Given the description of an element on the screen output the (x, y) to click on. 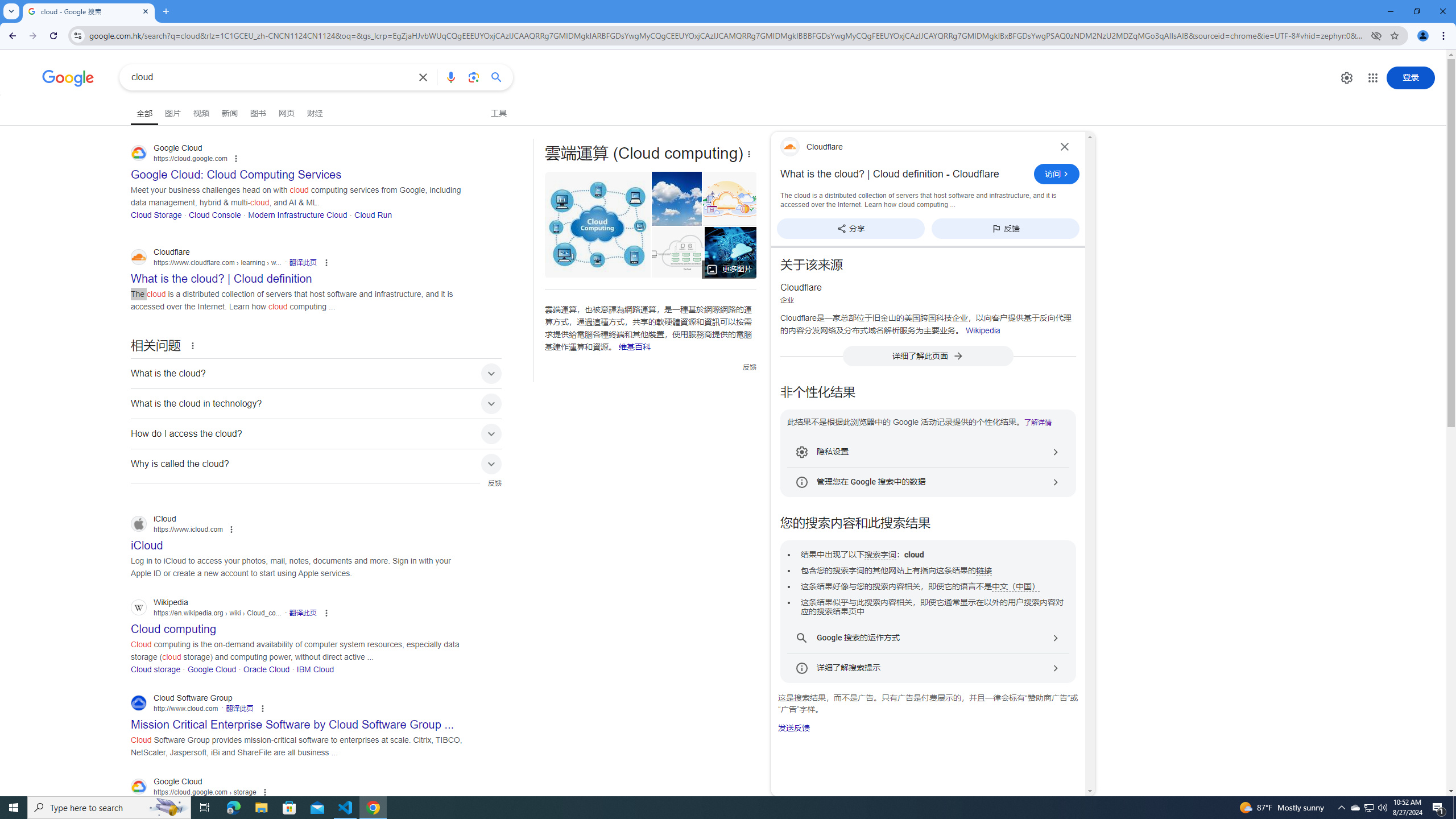
Cloud storage (155, 669)
Connectivity Cloud | Cloudflare (726, 198)
Modern Infrastructure Cloud (297, 214)
Connectivity Cloud | Cloudflare (730, 198)
Google (68, 78)
